Given the description of an element on the screen output the (x, y) to click on. 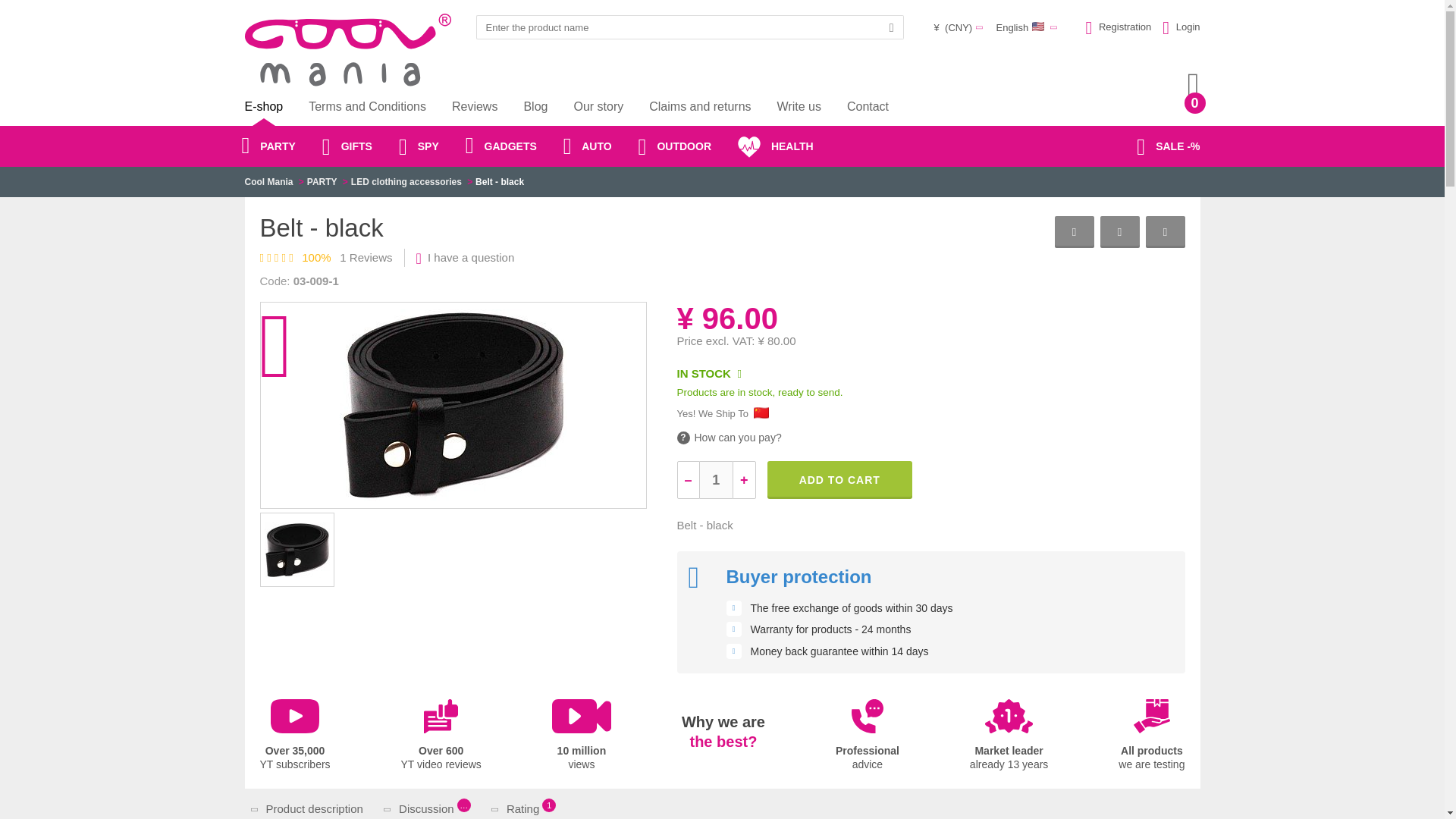
Rating 1 (441, 735)
Add to cart (525, 808)
PARTY (1151, 735)
Product description (839, 479)
LED clothing accessories (1008, 735)
I have a question (322, 181)
